Given the description of an element on the screen output the (x, y) to click on. 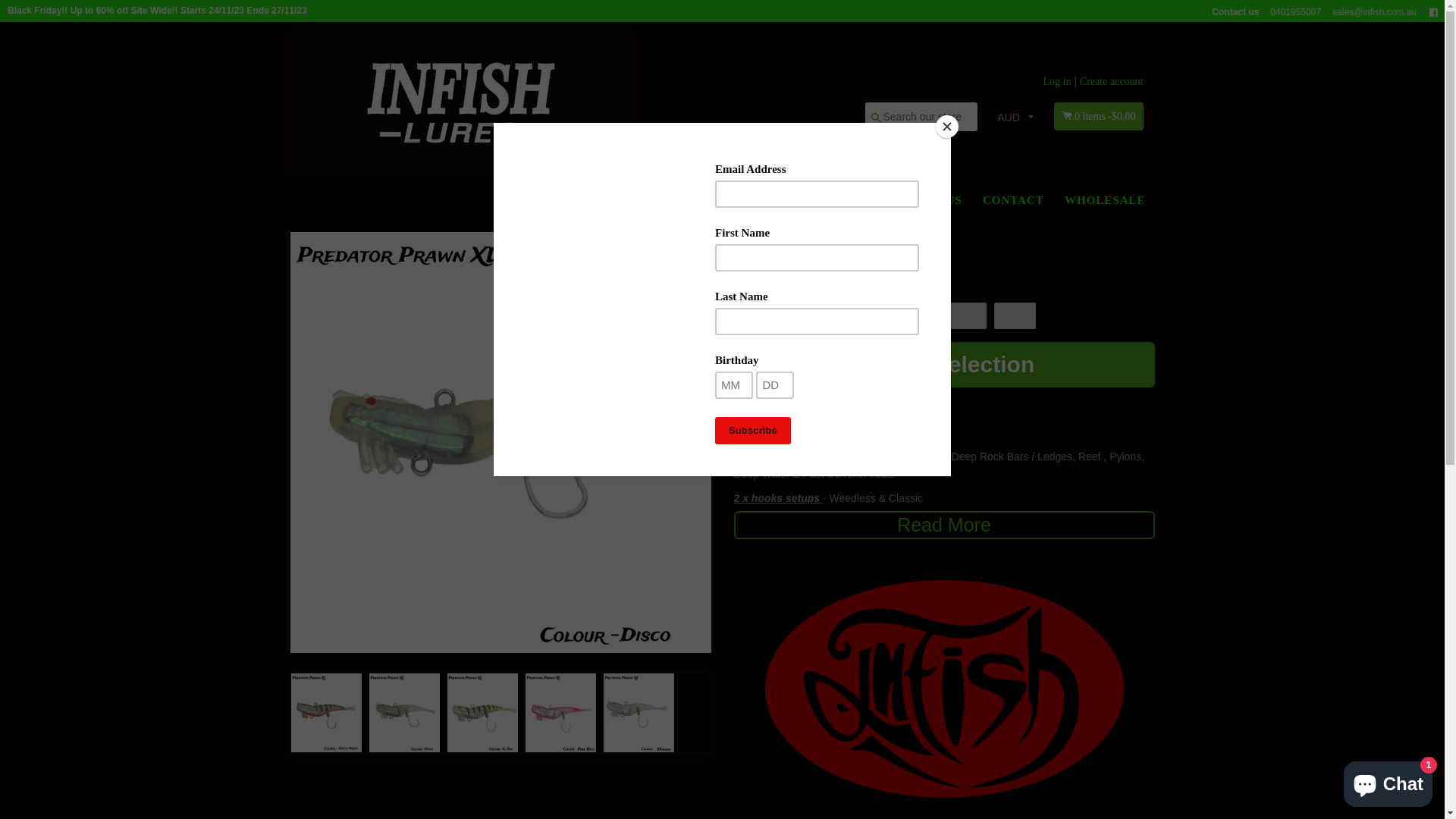
Make a selection Element type: text (944, 365)
0 items -$0.00 Element type: text (1098, 115)
HOME Element type: text (788, 200)
Shopify online store chat Element type: hover (1388, 780)
CONTACT Element type: text (1013, 200)
Facebook Element type: text (1433, 11)
Search Element type: text (875, 117)
sales@infish.com.au Element type: text (1374, 11)
Contact us Element type: text (1235, 11)
Log in Element type: text (1057, 81)
Create account Element type: text (1111, 81)
Read More Element type: text (944, 525)
0401955007 Element type: text (1295, 11)
SHOP Element type: text (853, 200)
WHOLESALE Element type: text (1104, 200)
ABOUT US Element type: text (930, 200)
